Given the description of an element on the screen output the (x, y) to click on. 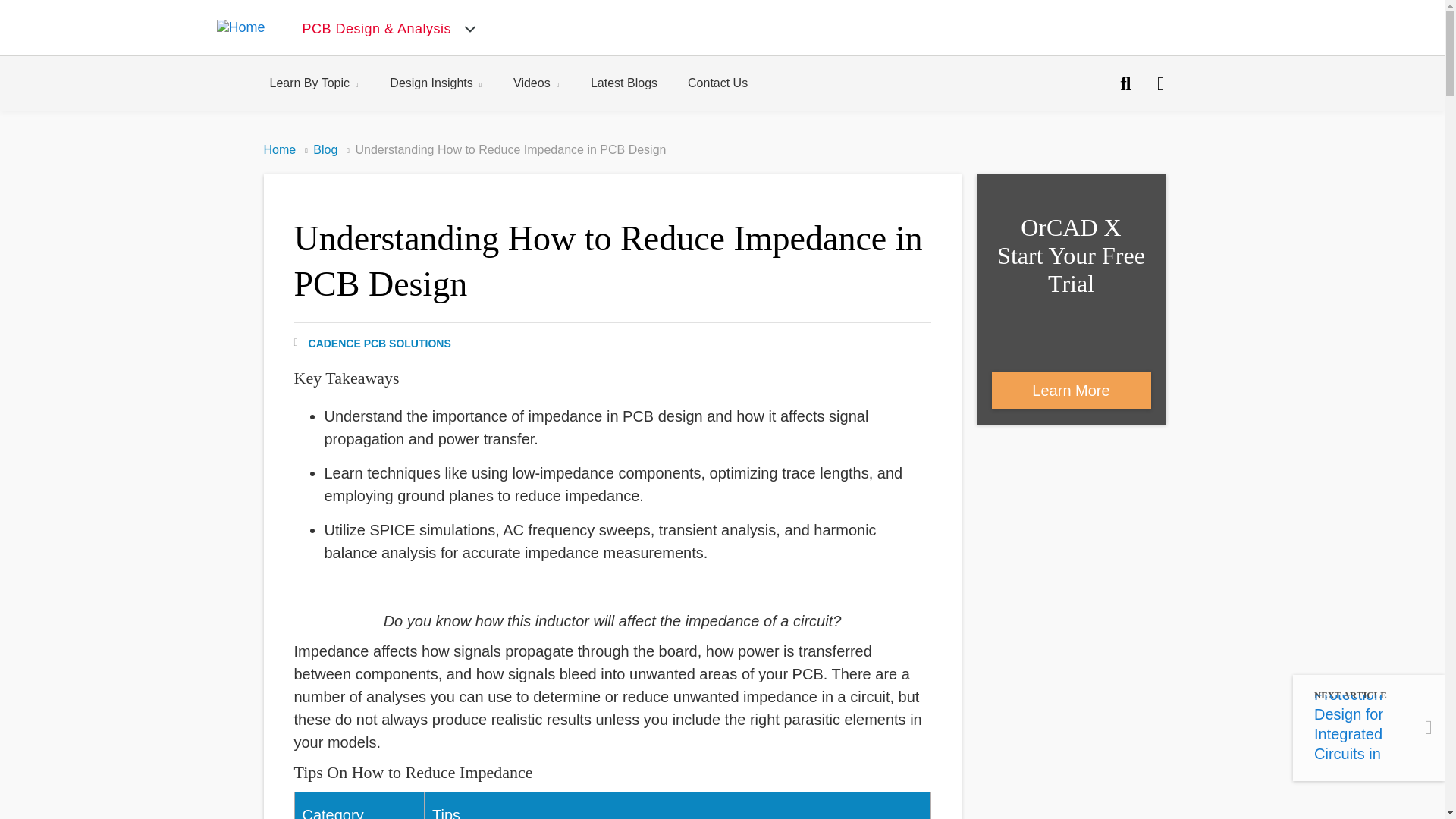
Share this Post (1160, 82)
Author (372, 342)
Open Search Box (1126, 82)
